Given the description of an element on the screen output the (x, y) to click on. 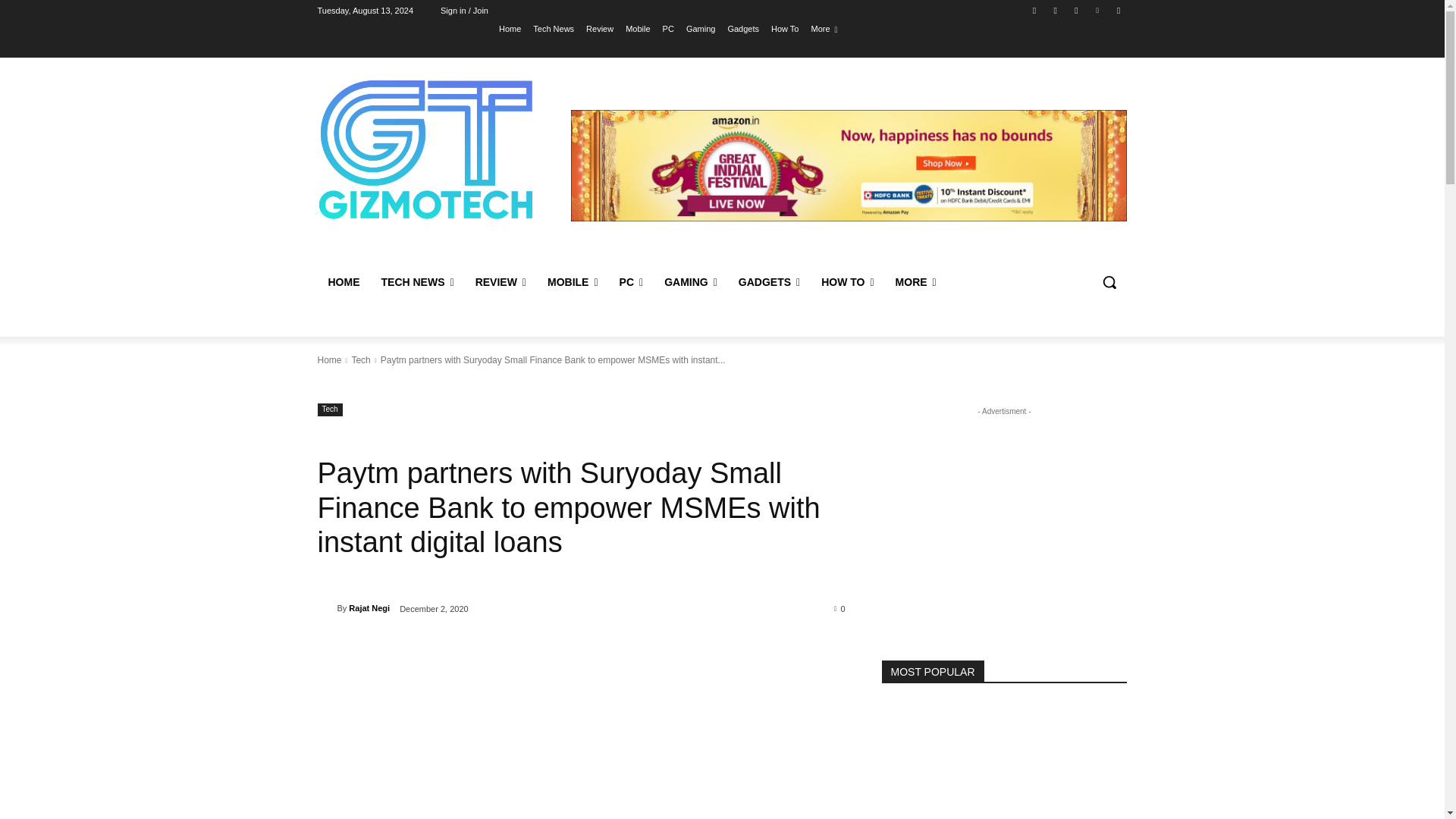
More (823, 28)
Home (510, 28)
Gadgets (742, 28)
Youtube (1117, 9)
Twitter (1075, 9)
Mobile (637, 28)
Tech News (552, 28)
Instagram (1055, 9)
Review (599, 28)
How To (784, 28)
